Given the description of an element on the screen output the (x, y) to click on. 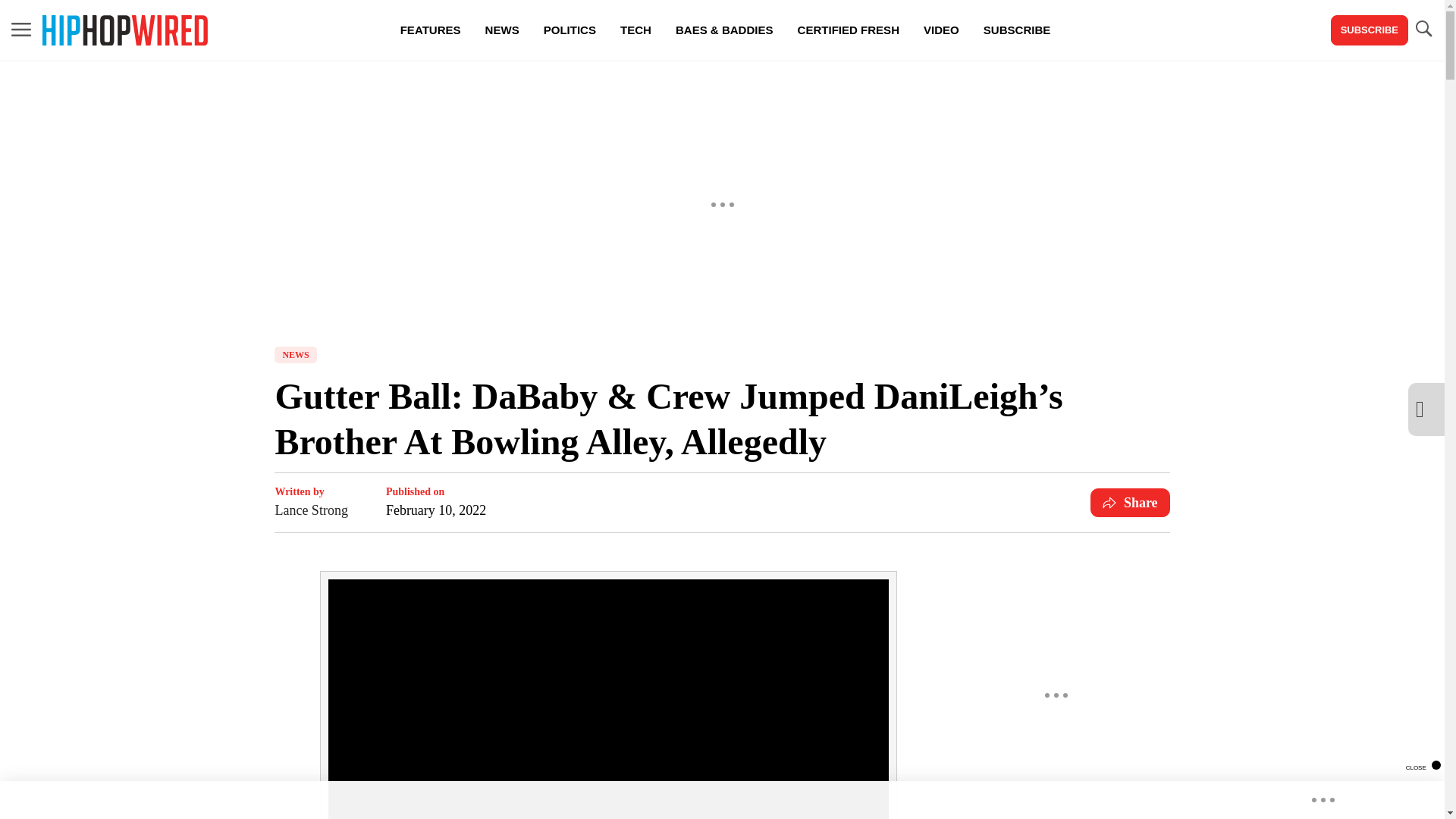
NEWS (502, 30)
TECH (635, 30)
Lance Strong (311, 509)
MENU (20, 29)
NEWS (295, 354)
Share (1130, 502)
TOGGLE SEARCH (1422, 28)
VIDEO (941, 30)
CERTIFIED FRESH (848, 30)
TOGGLE SEARCH (1422, 30)
